Given the description of an element on the screen output the (x, y) to click on. 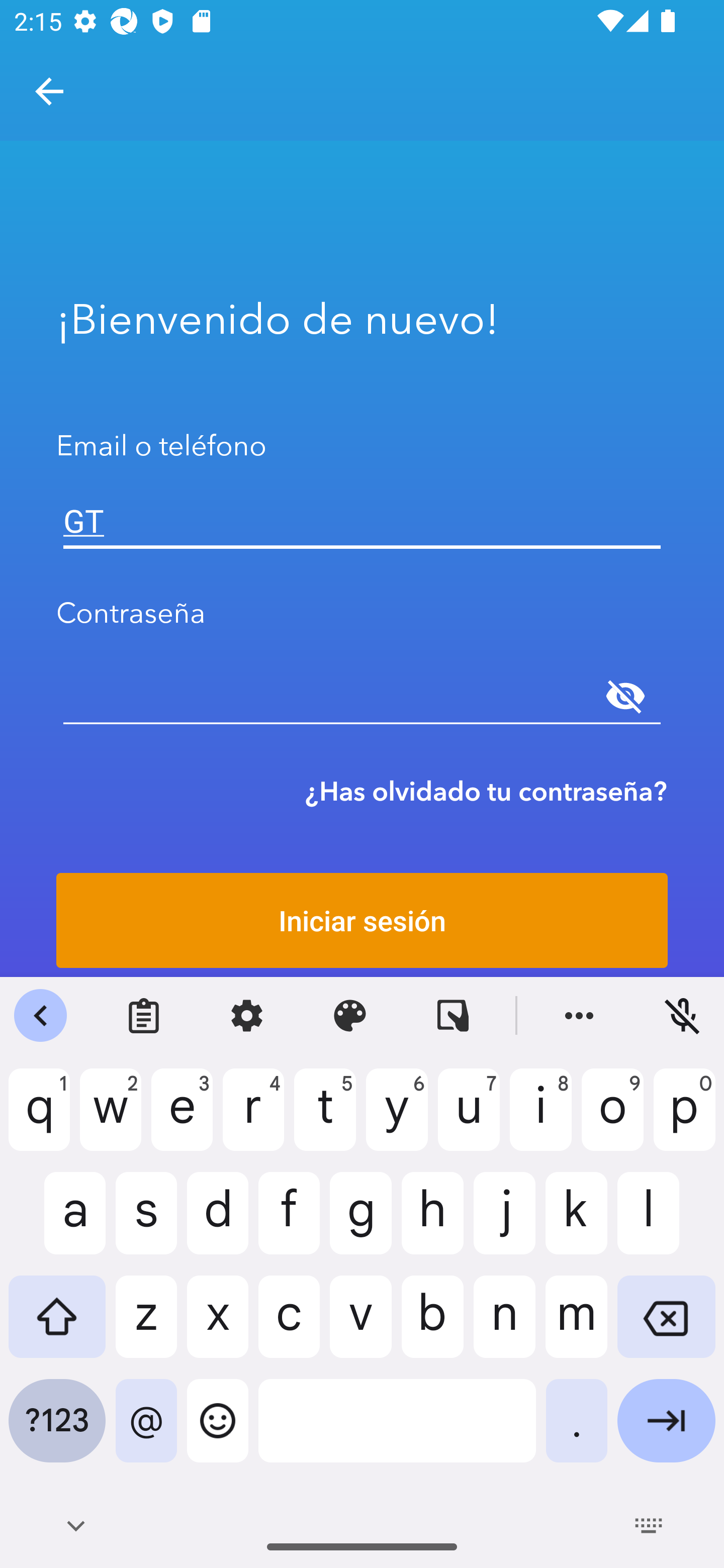
Navegar hacia arriba (49, 91)
GT (361, 521)
Mostrar contraseña (625, 695)
¿Has olvidado tu contraseña? (486, 790)
Iniciar sesión (361, 920)
